Given the description of an element on the screen output the (x, y) to click on. 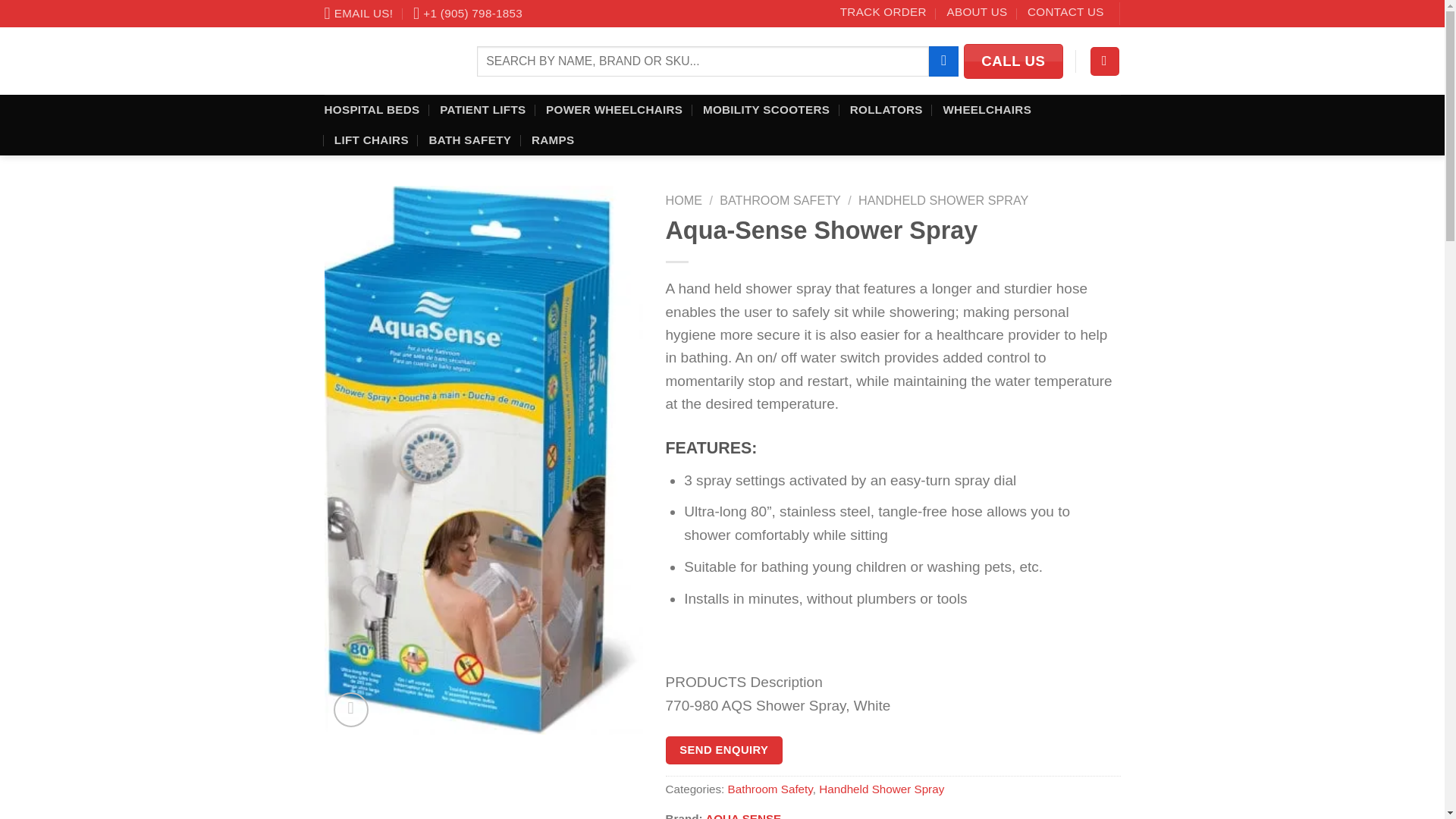
LIFT CHAIRS (371, 140)
HOSPITAL BEDS (372, 110)
BATH SAFETY (469, 140)
BATHROOM SAFETY (780, 200)
ROLLATORS (886, 110)
SEND ENQUIRY (724, 750)
ABOUT US (976, 12)
CALL US (1012, 61)
TRACK ORDER (883, 12)
Zoom (350, 709)
RAMPS (552, 140)
Search (943, 60)
WHEELCHAIRS (986, 110)
Login (1104, 61)
POWER WHEELCHAIRS (614, 110)
